Given the description of an element on the screen output the (x, y) to click on. 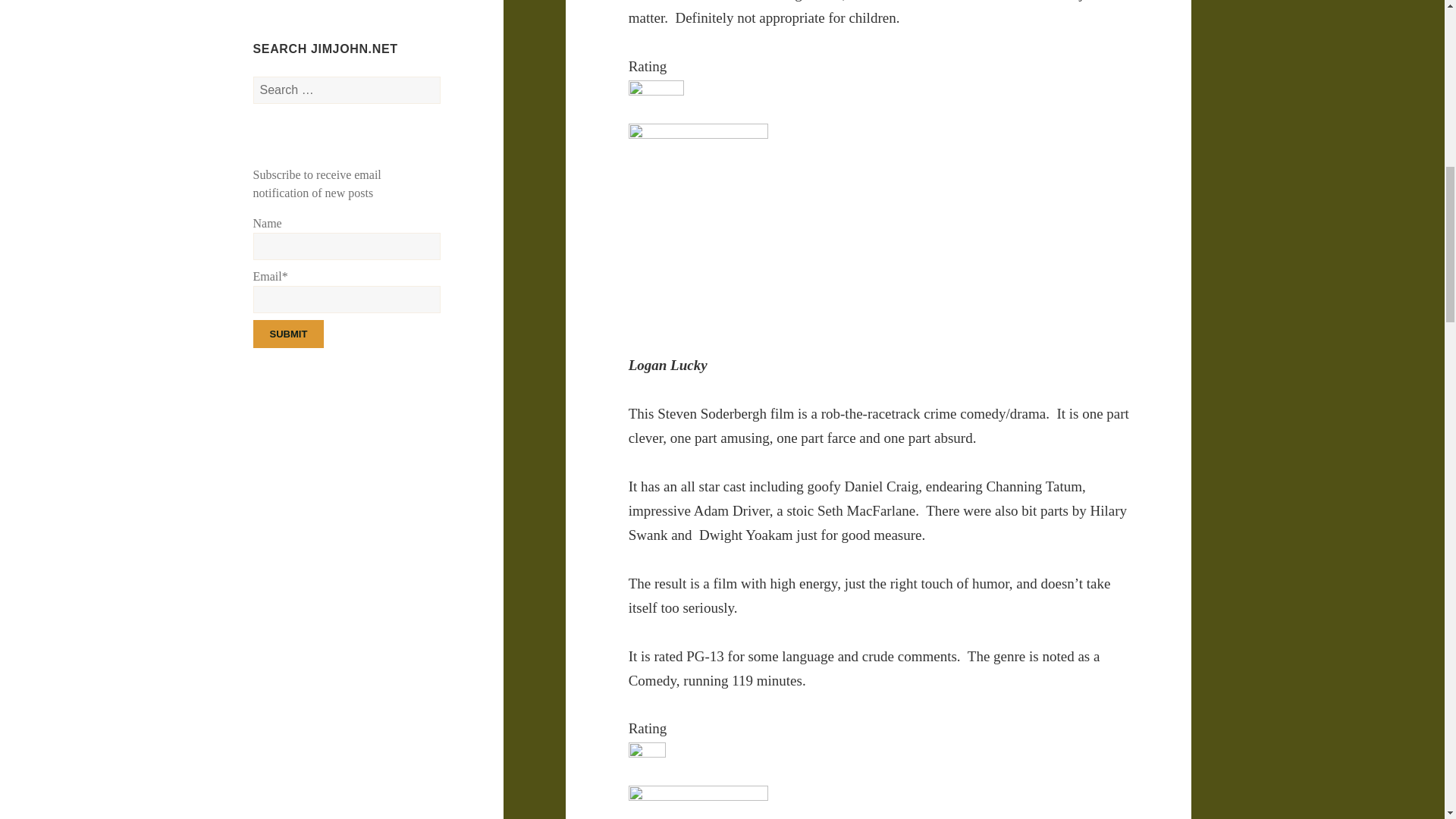
Submit (288, 334)
Submit (288, 334)
